Given the description of an element on the screen output the (x, y) to click on. 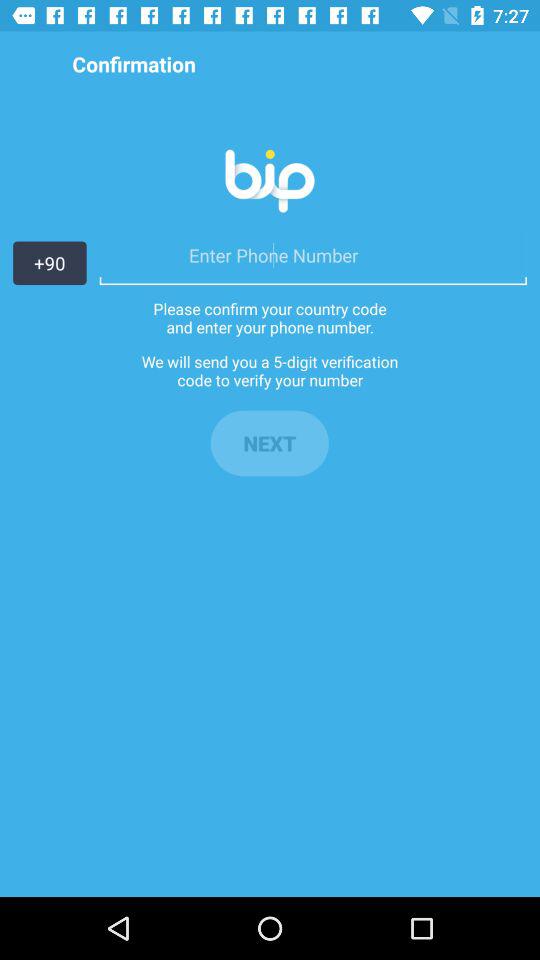
here we have to enter the mobile number for confirmation (312, 255)
